Given the description of an element on the screen output the (x, y) to click on. 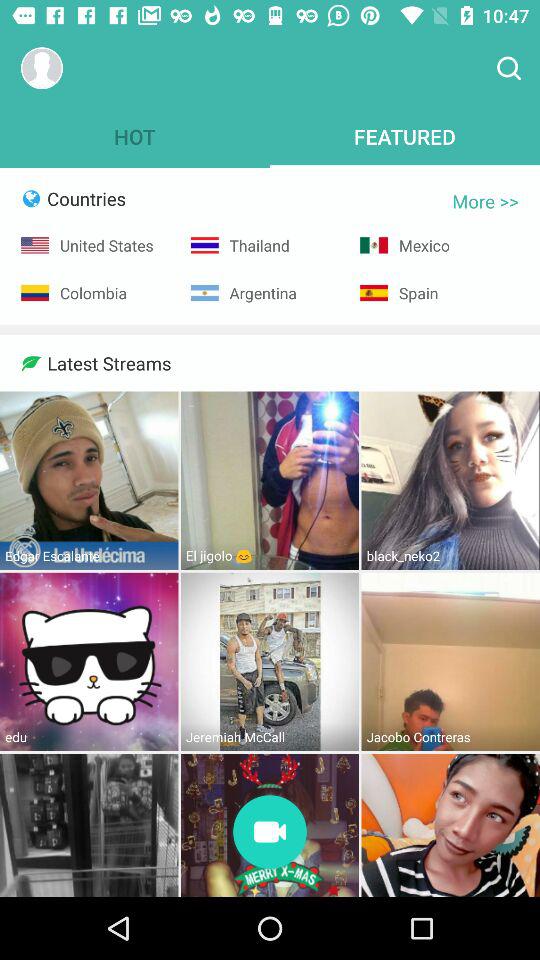
activate camera (269, 834)
